Given the description of an element on the screen output the (x, y) to click on. 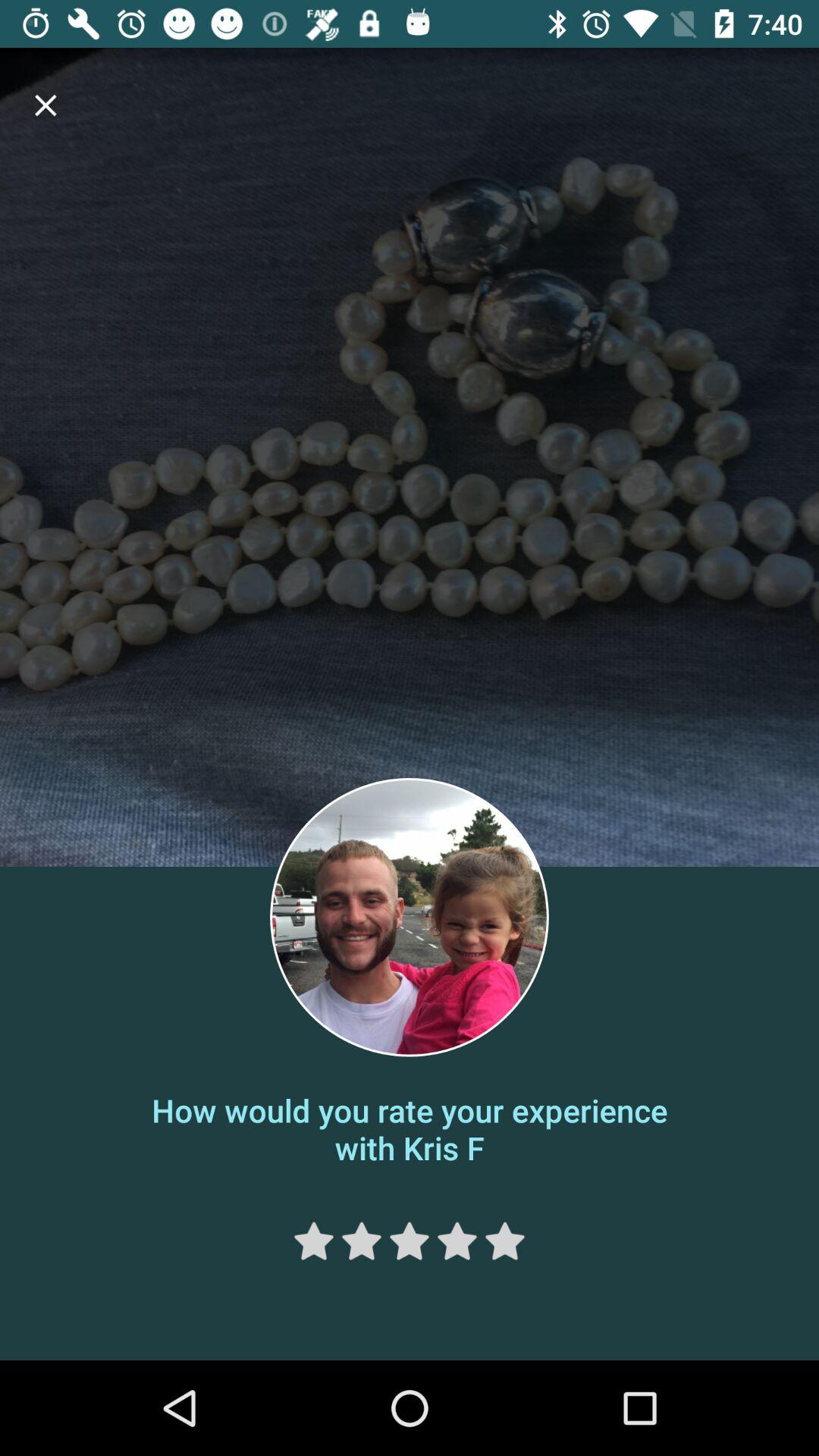
rate your experience (457, 1240)
